Given the description of an element on the screen output the (x, y) to click on. 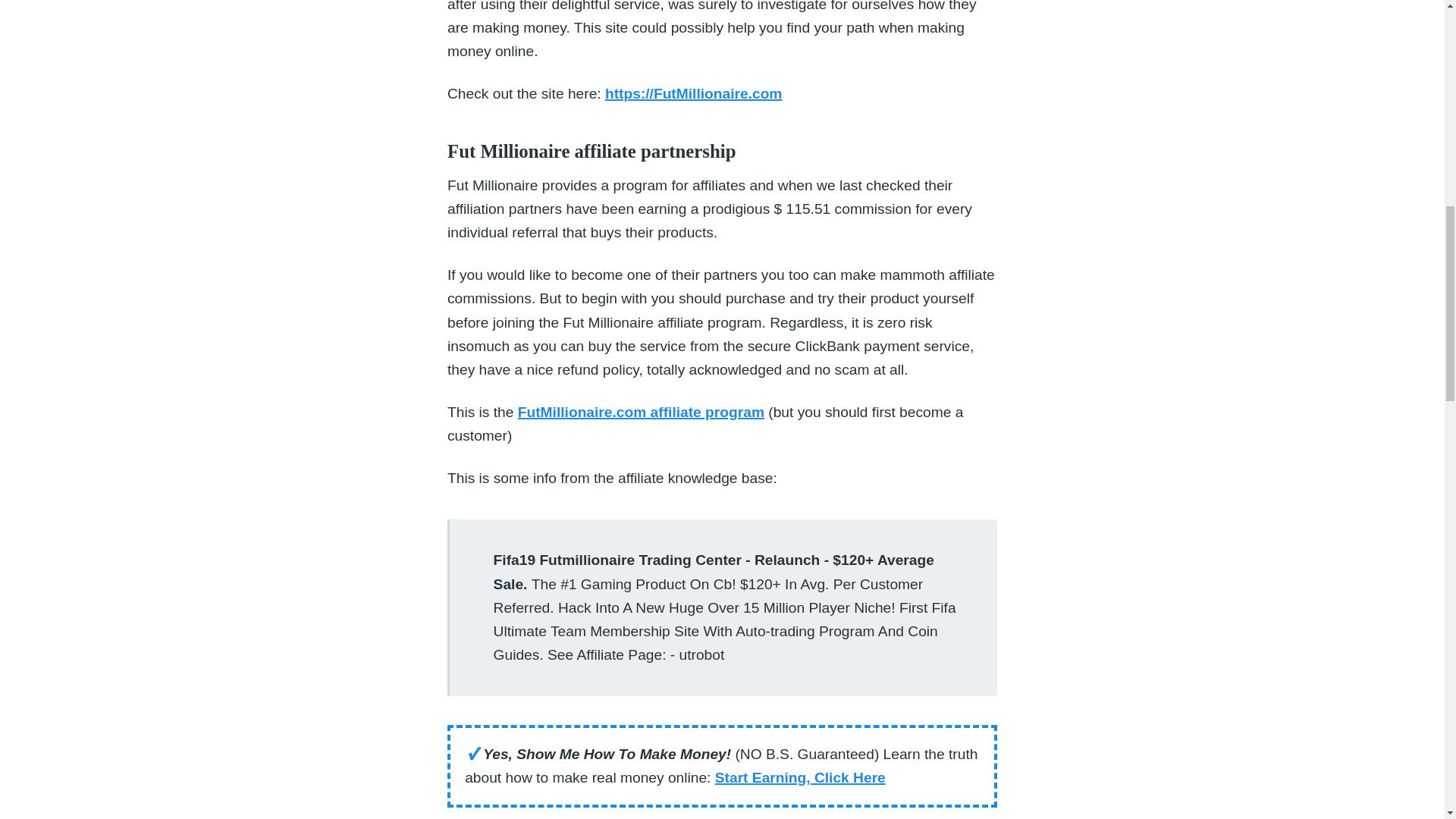
FutMillionaire.com affiliate program (641, 412)
Start Earning, Click Here (799, 777)
